Given the description of an element on the screen output the (x, y) to click on. 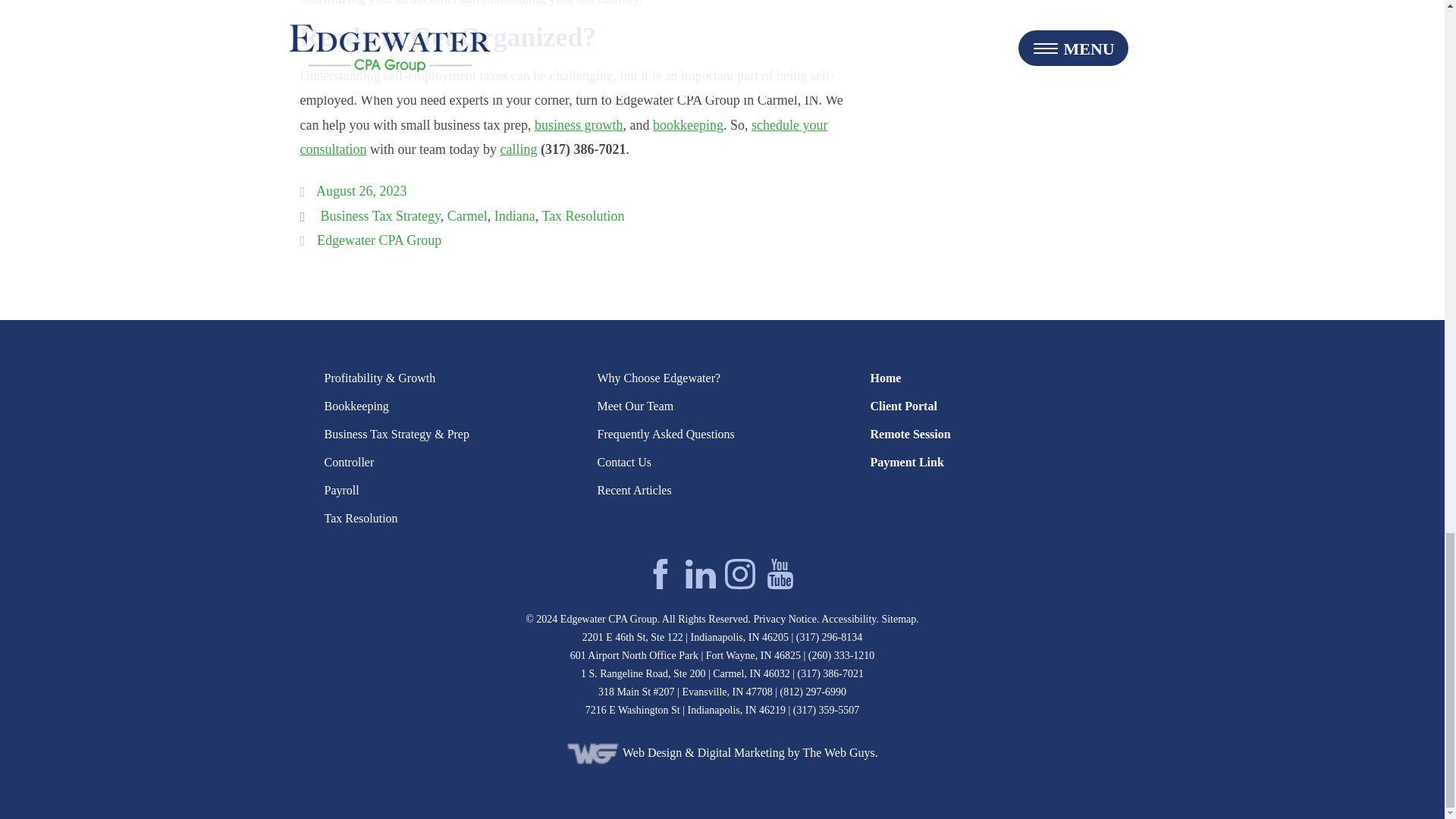
business growth (578, 124)
Carmel (466, 215)
Payment Link (906, 462)
View all posts by Edgewater CPA Group (379, 240)
Contact Us (623, 462)
bookkeeping (687, 124)
Payroll (341, 490)
August 26, 2023 (361, 191)
instagram (740, 573)
Business Tax Strategy (379, 215)
calling (518, 149)
Bookkeeping (356, 406)
Home (885, 377)
Client Portal (902, 406)
